Given the description of an element on the screen output the (x, y) to click on. 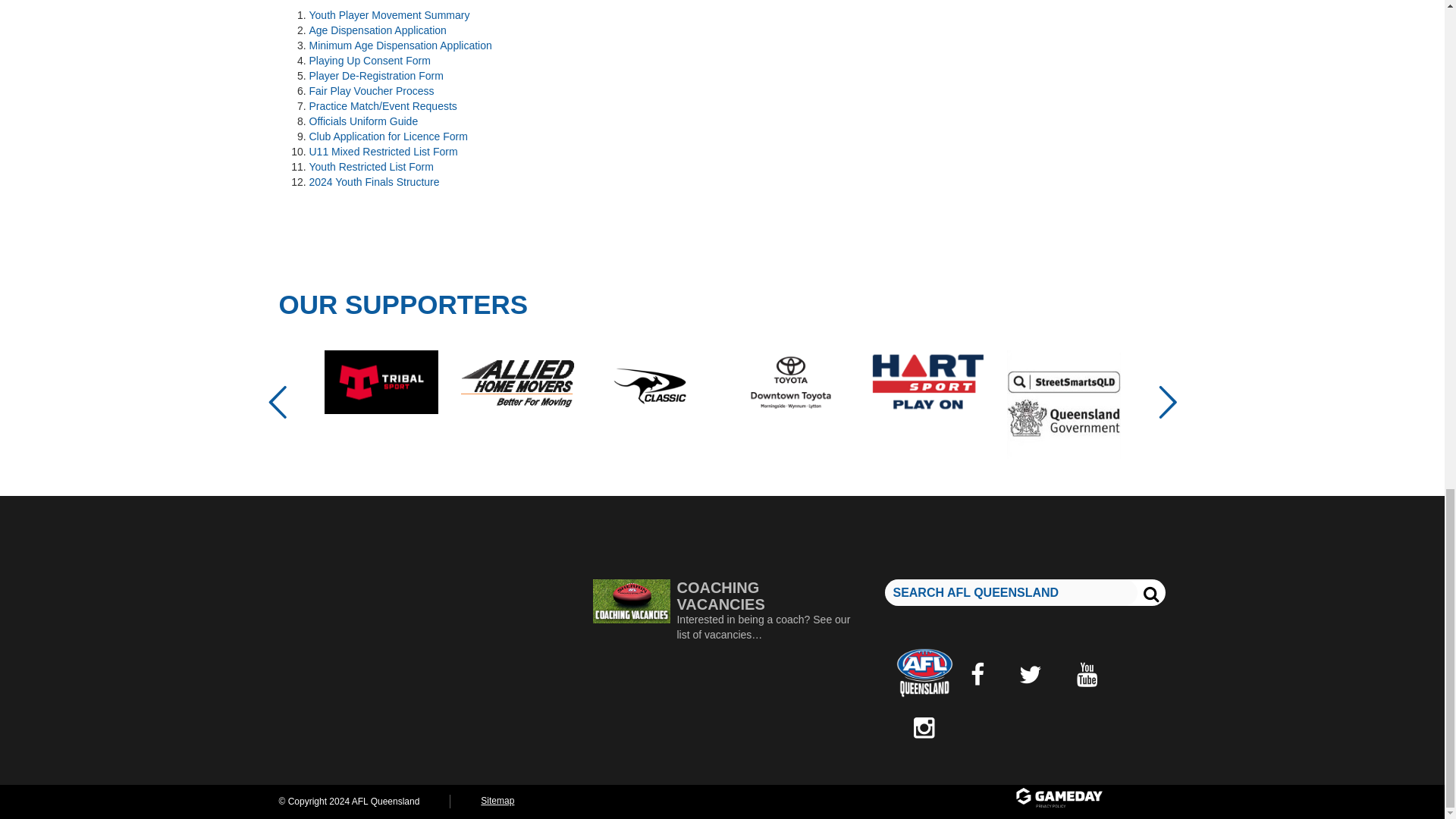
Powered by SportsTG (1089, 798)
